Given the description of an element on the screen output the (x, y) to click on. 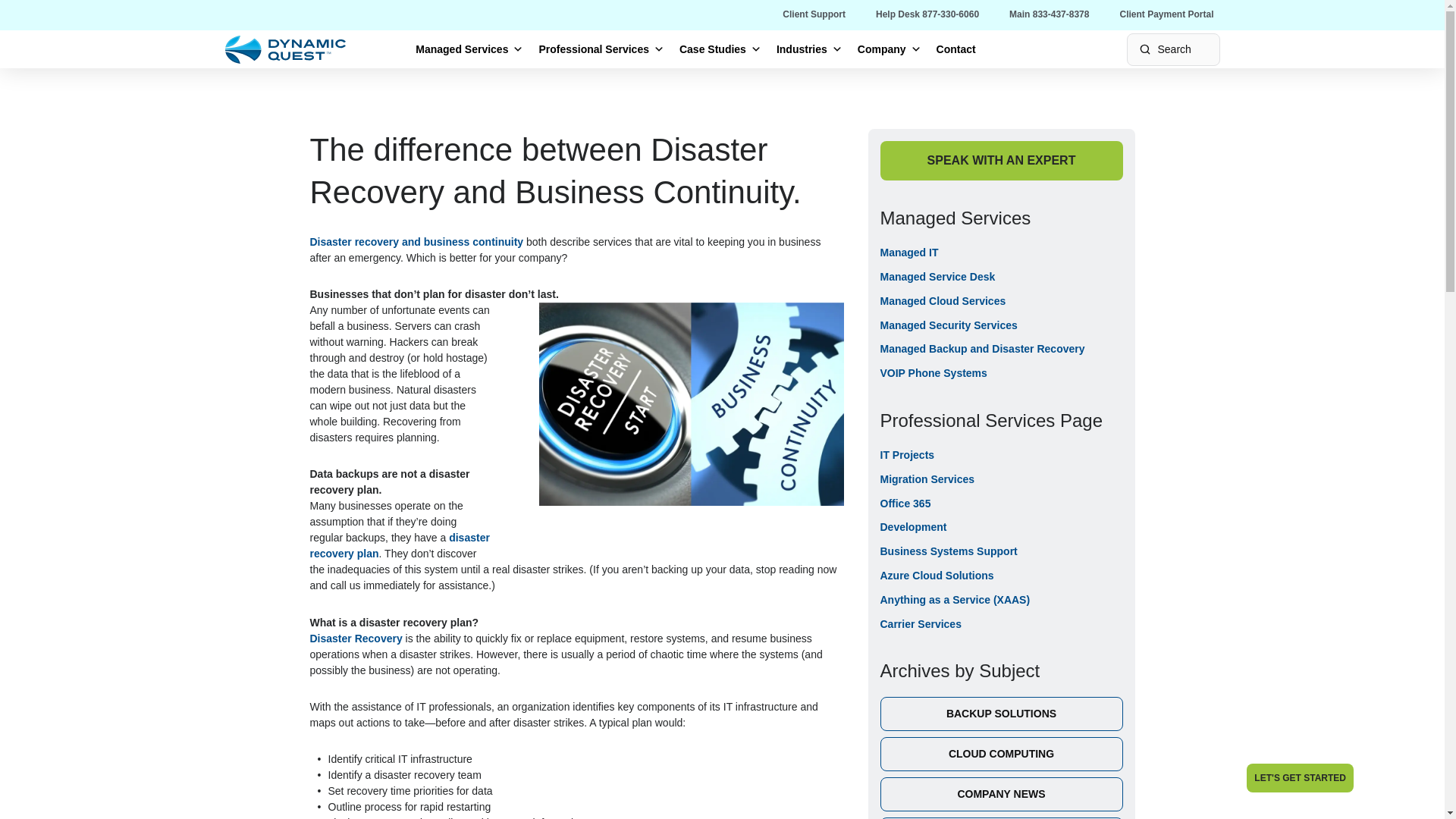
Help Desk 877-330-6060 (927, 14)
Client Payment Portal (1165, 14)
Main 833-437-8378 (1049, 14)
Managed Services (469, 48)
Main Logo (285, 48)
Professional Services (601, 48)
Client Support (814, 14)
Case Studies (719, 48)
